Given the description of an element on the screen output the (x, y) to click on. 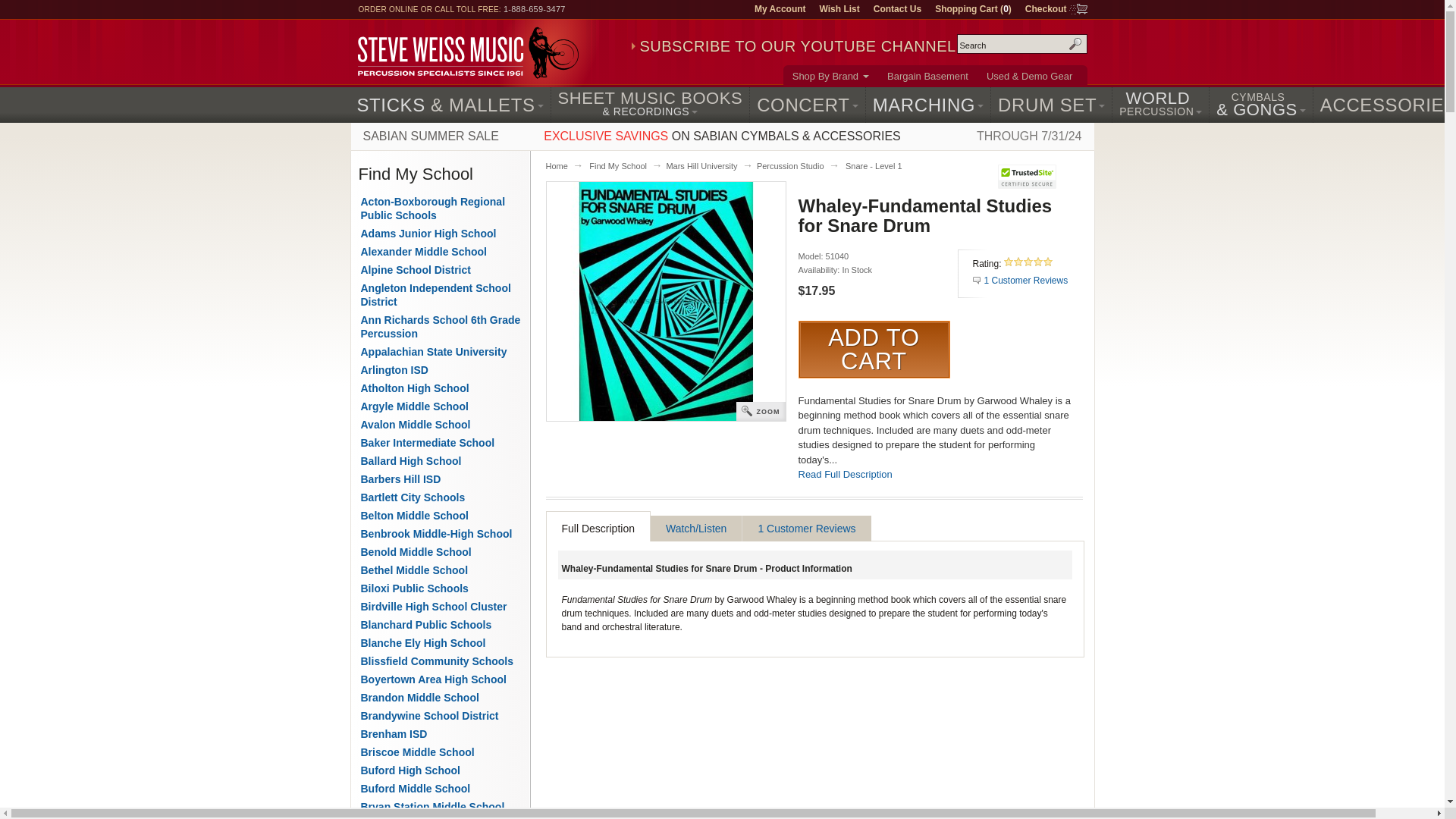
CONCERT (806, 104)
MARCHING (928, 104)
